Given the description of an element on the screen output the (x, y) to click on. 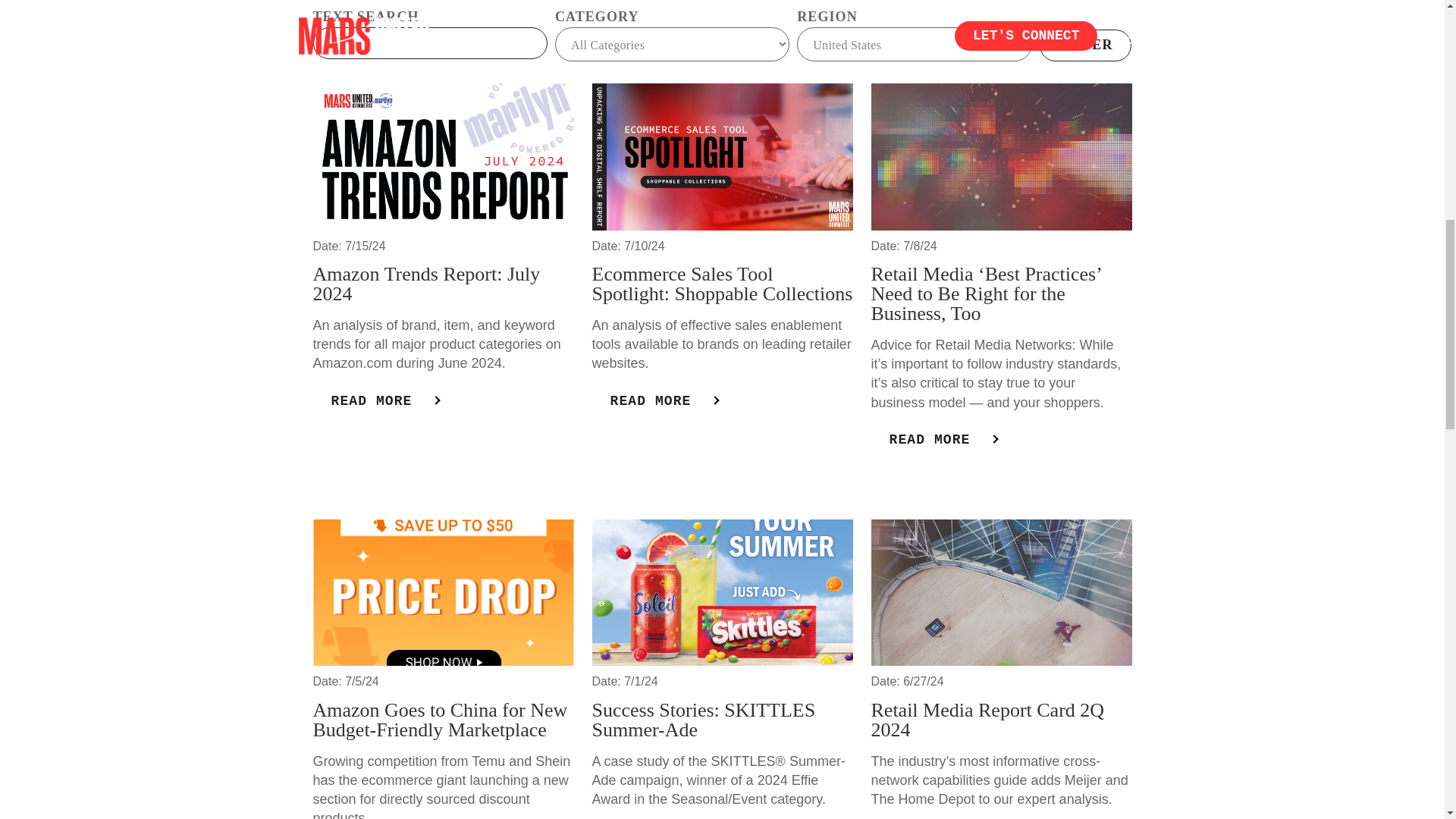
READ MORE (663, 400)
Ecommerce Sales Tool Spotlight: Shoppable Collections (721, 283)
Amazon Trends Report: July 2024 (426, 283)
FILTER (1085, 45)
READ MORE (942, 439)
Amazon Goes to China for New Budget-Friendly Marketplace (440, 720)
Success Stories: SKITTLES Summer-Ade (703, 720)
READ MORE (384, 400)
